Given the description of an element on the screen output the (x, y) to click on. 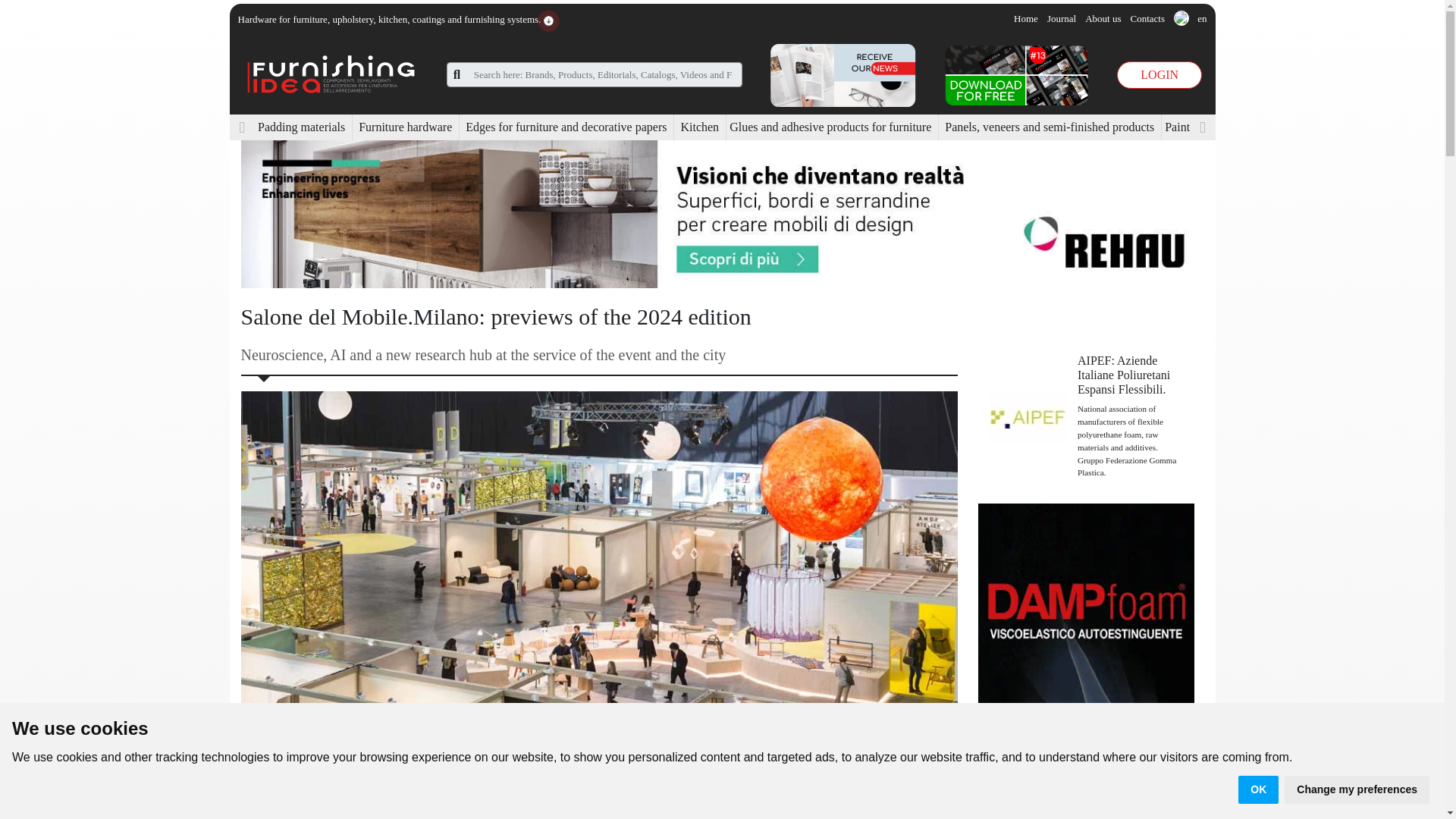
Home (1025, 18)
Furniture hardware (405, 126)
Padding materials  (301, 126)
Contacts (1147, 18)
LOGIN (1159, 73)
en (1190, 19)
Furniture hardware (405, 126)
Padding materials (301, 126)
Furniture hardware, furniture accessories and systems (331, 72)
Journal (1061, 18)
